Given the description of an element on the screen output the (x, y) to click on. 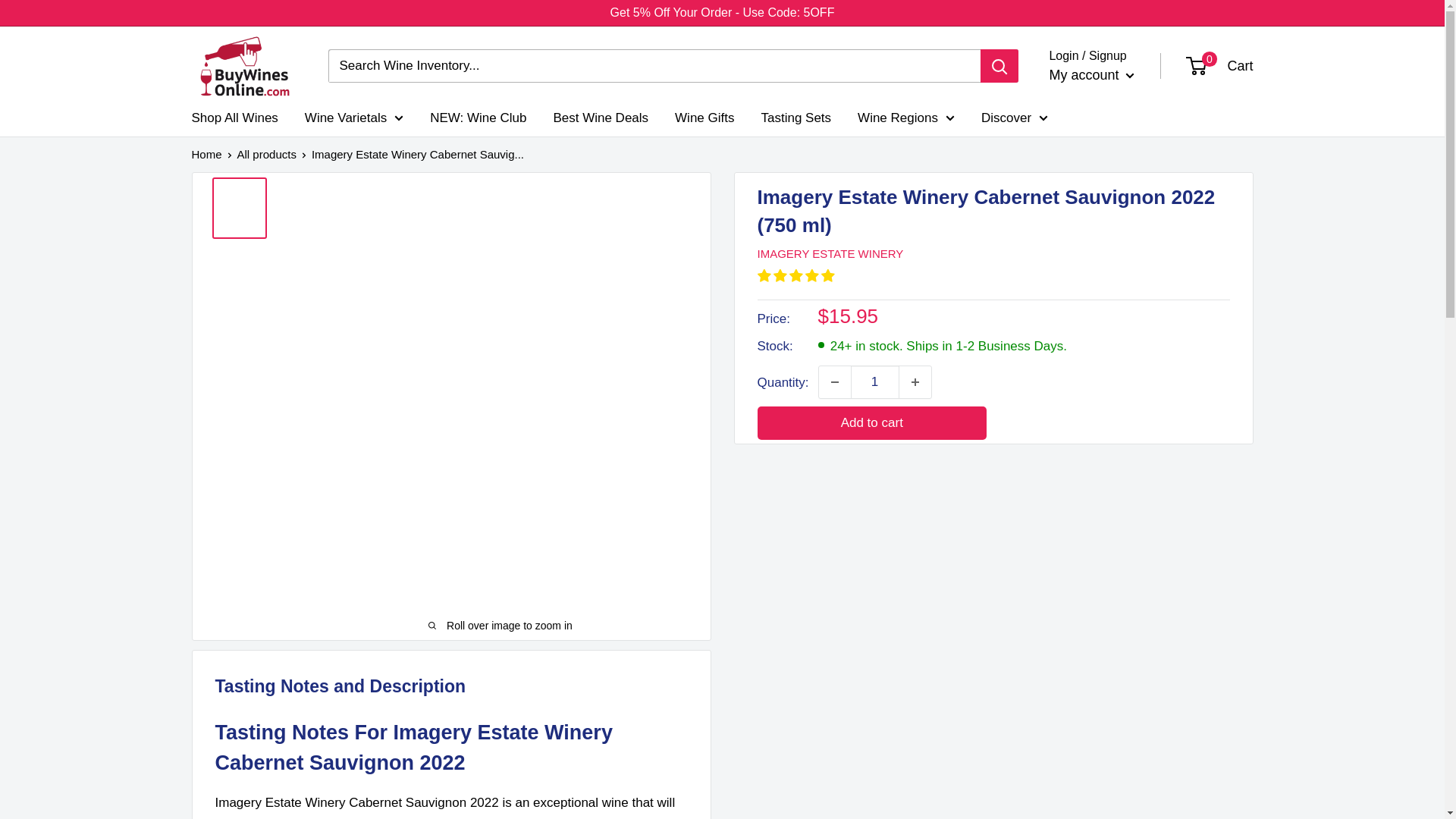
Decrease quantity by 1 (834, 382)
Increase quantity by 1 (915, 382)
1 (874, 382)
